Given the description of an element on the screen output the (x, y) to click on. 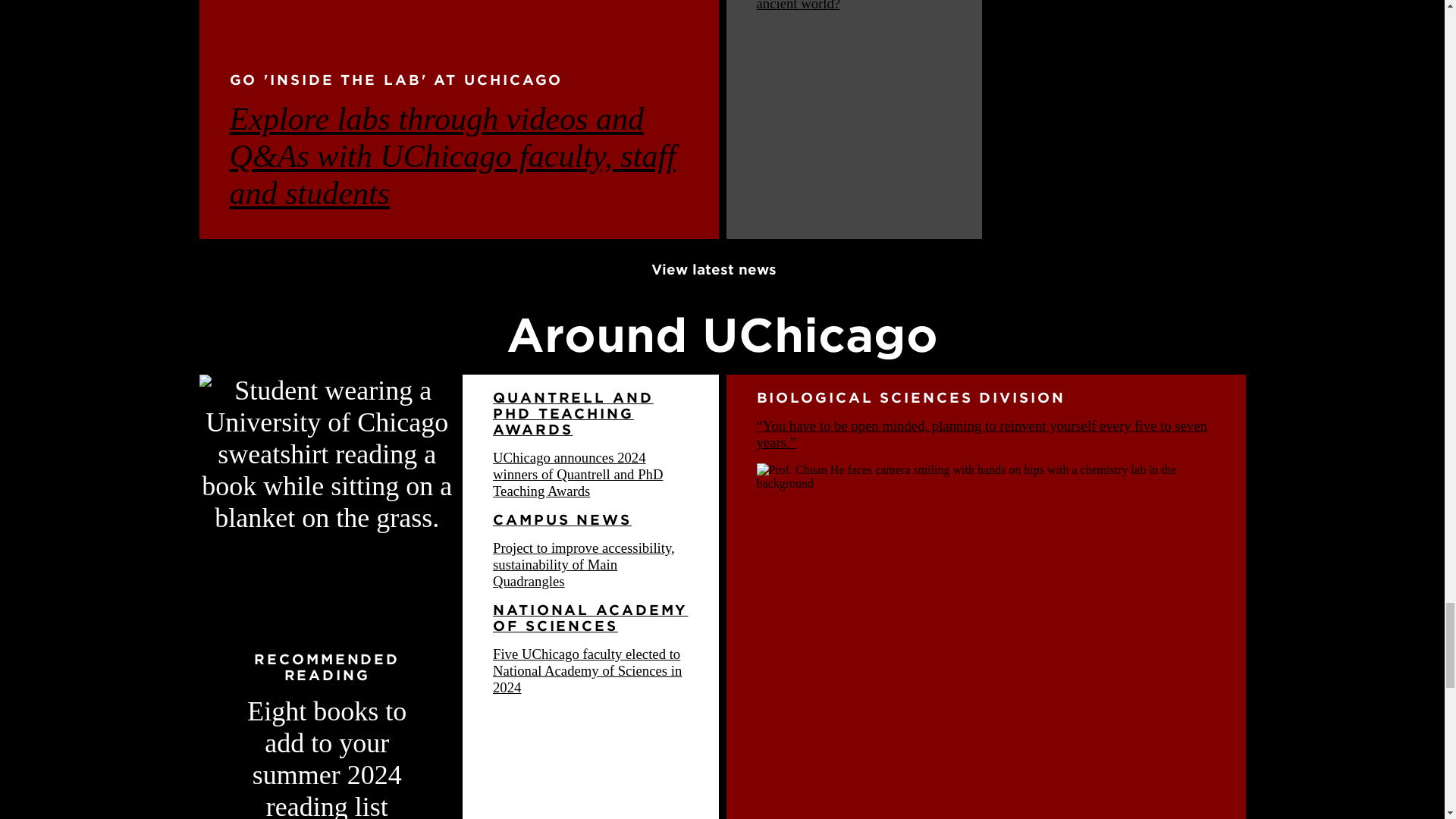
Eight books to add to your summer 2024 reading list (326, 757)
View latest news (721, 269)
How did people use color in the ancient world? (847, 5)
